Given the description of an element on the screen output the (x, y) to click on. 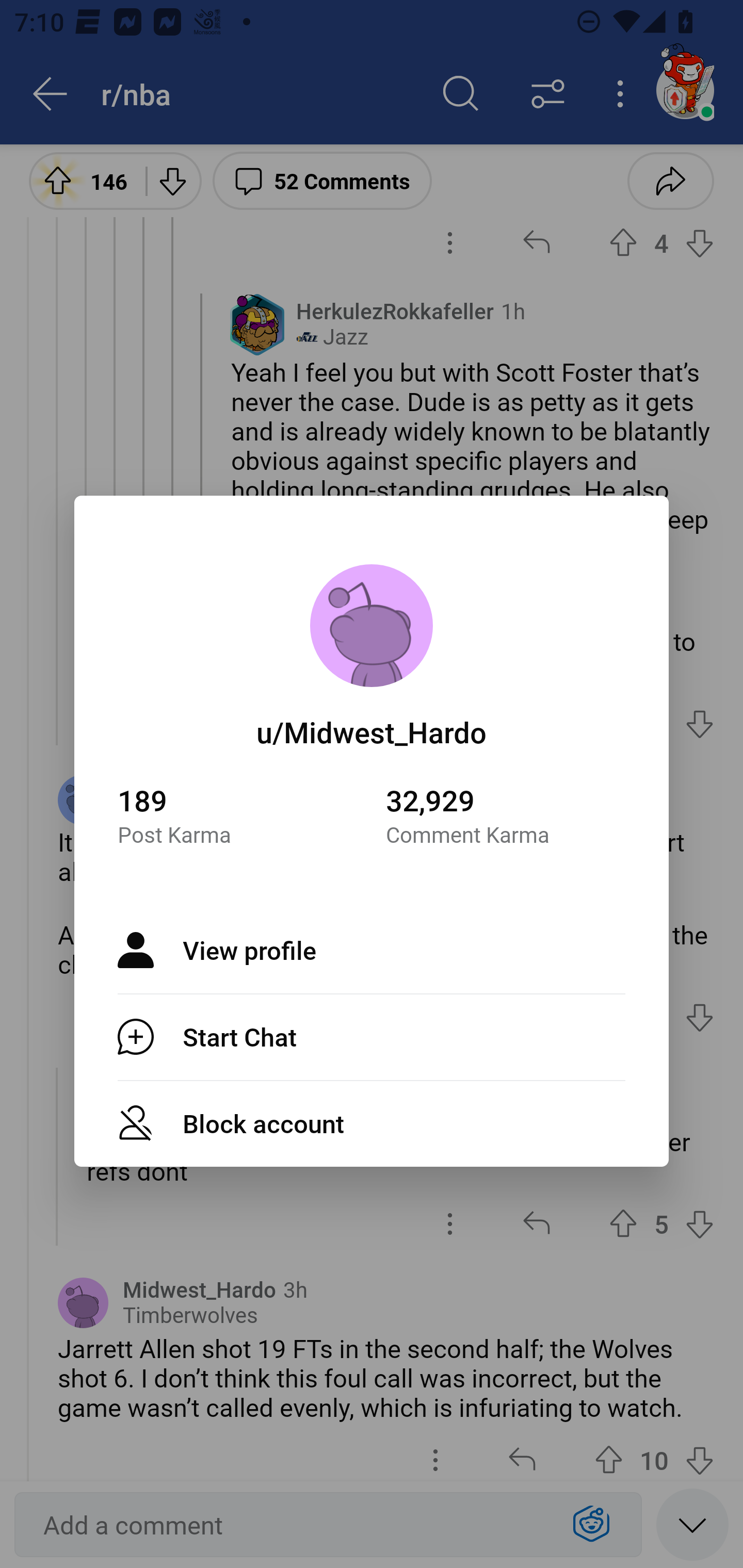
u/Midwest_Hardo (371, 731)
View profile (371, 950)
Start Chat (371, 1037)
Block account (371, 1123)
